Given the description of an element on the screen output the (x, y) to click on. 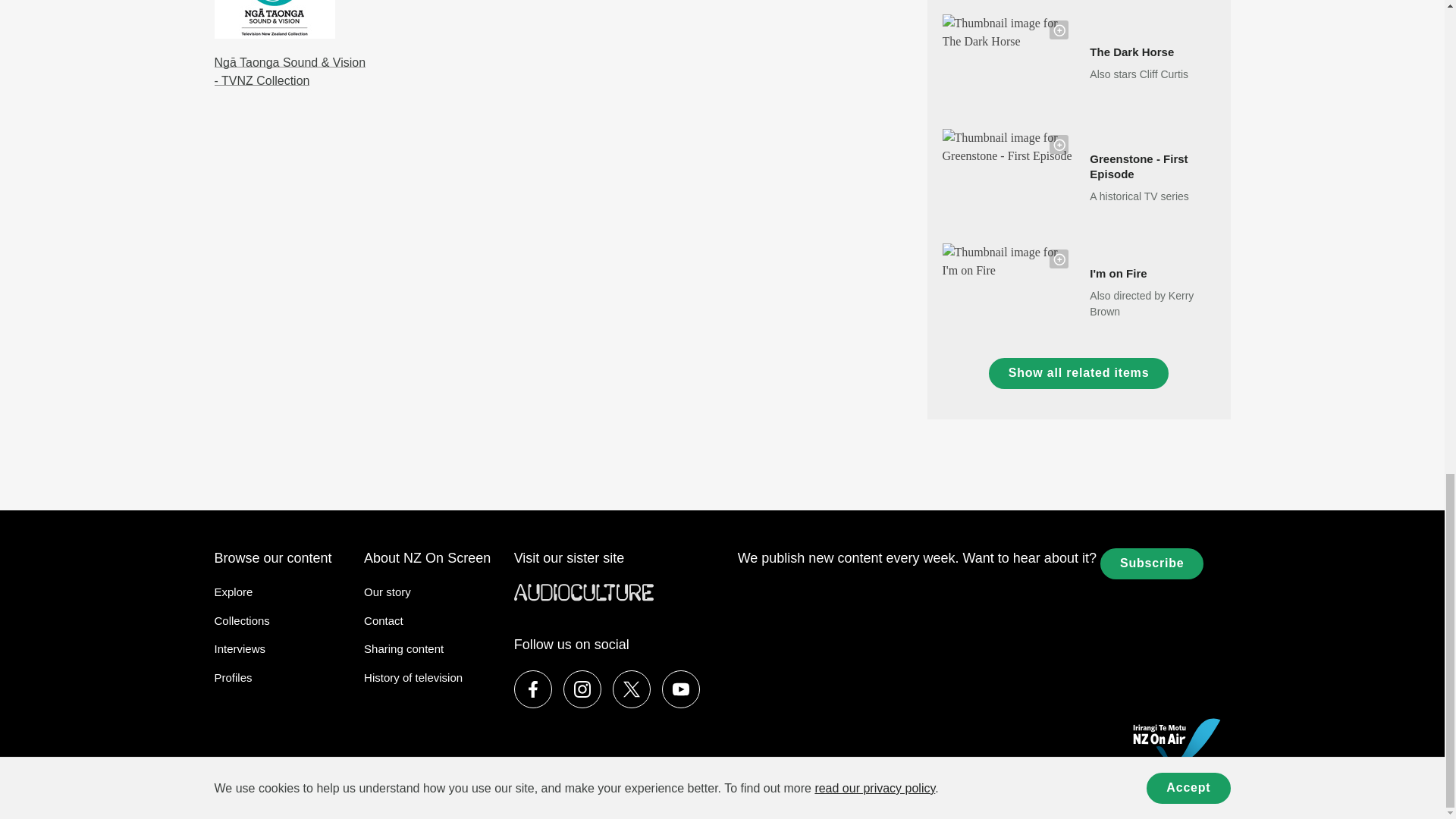
Check out Instagram (582, 689)
Check out Twitter (631, 689)
Watch more on YouTube (681, 689)
Connect with us on Facebook (532, 689)
